Given the description of an element on the screen output the (x, y) to click on. 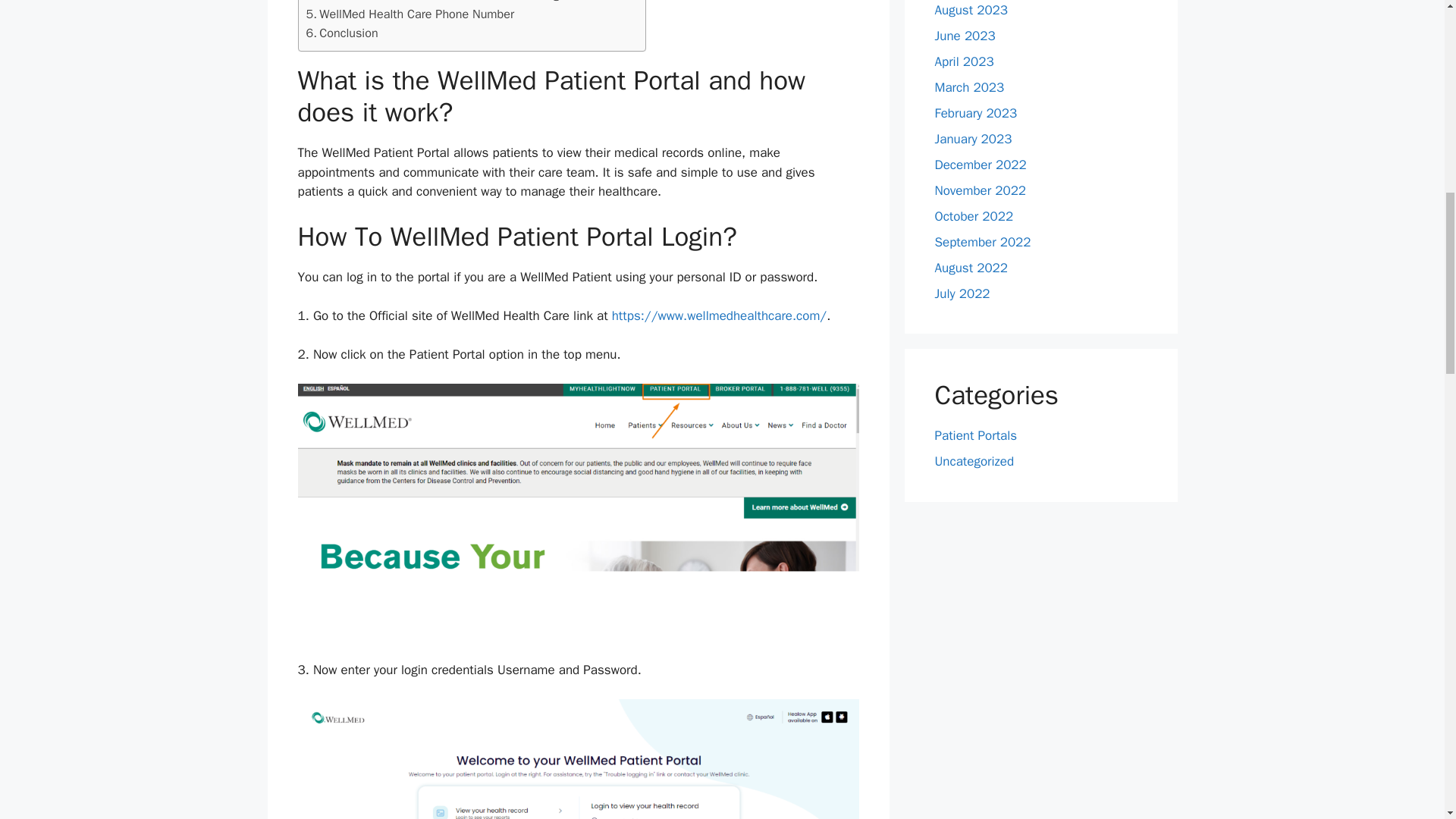
June 2023 (964, 35)
How to Reset the WellMed Patient Portal Login Password? (467, 2)
August 2023 (970, 10)
Conclusion (341, 33)
January 2023 (972, 139)
Conclusion (341, 33)
How to Reset the WellMed Patient Portal Login Password? (467, 2)
March 2023 (969, 87)
WellMed Health Care Phone Number (410, 14)
December 2022 (980, 164)
February 2023 (975, 113)
WellMed Health Care Phone Number (410, 14)
April 2023 (963, 61)
